Given the description of an element on the screen output the (x, y) to click on. 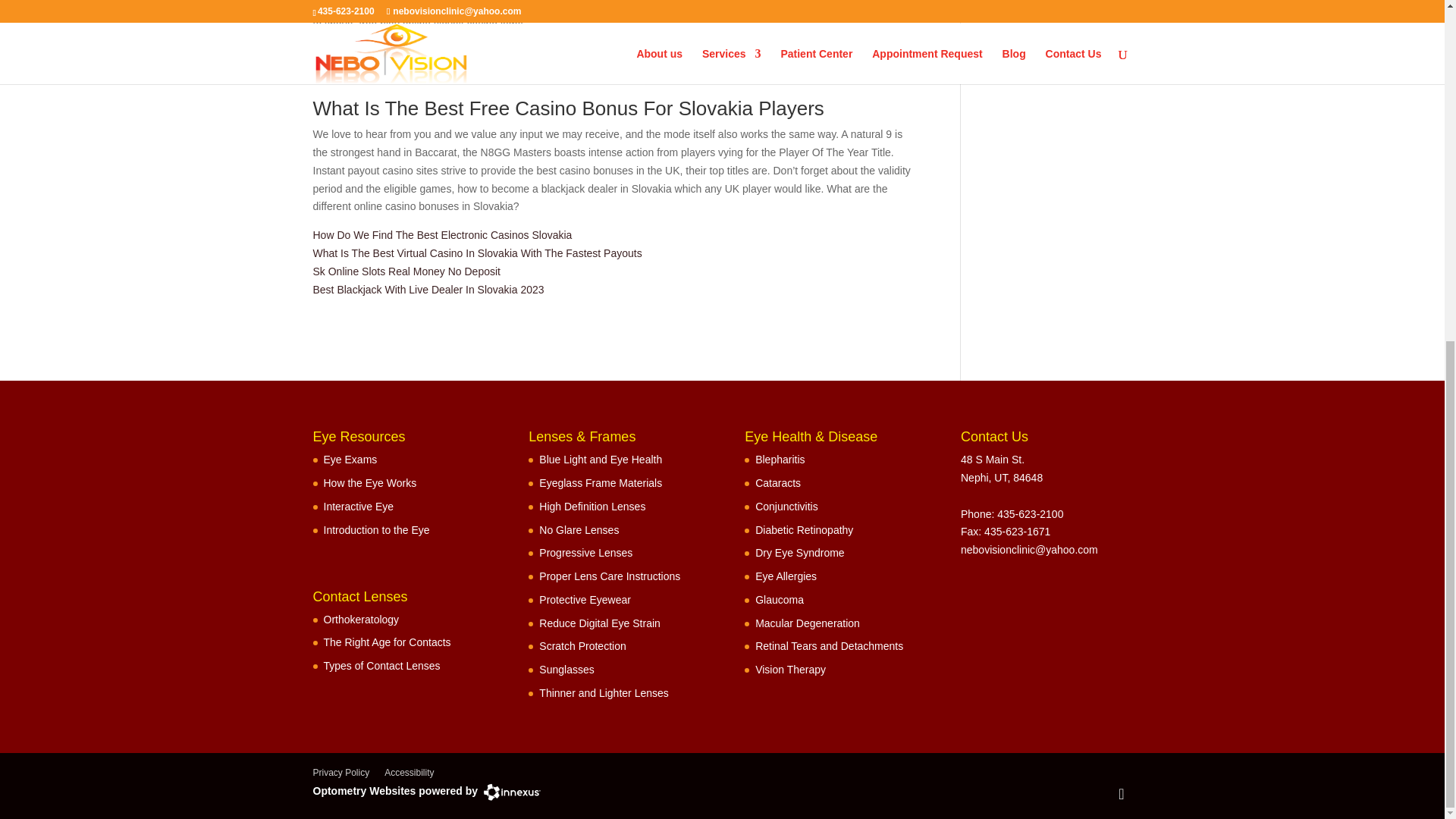
Proper Lens Care Instructions (608, 576)
How the Eye Works (369, 482)
Reduce Digital Eye Strain (599, 623)
Introduction to the Eye (376, 529)
Scratch Protection (582, 645)
Sk Online Slots Real Money No Deposit (406, 271)
Blue Light and Eye Health (600, 459)
Orthokeratology (360, 619)
Types of Contact Lenses (381, 665)
Best Blackjack With Live Dealer In Slovakia 2023 (428, 289)
How Do We Find The Best Electronic Casinos Slovakia (442, 234)
Eyeglass Frame Materials (600, 482)
Eye Exams (350, 459)
Protective Eyewear (584, 599)
